Given the description of an element on the screen output the (x, y) to click on. 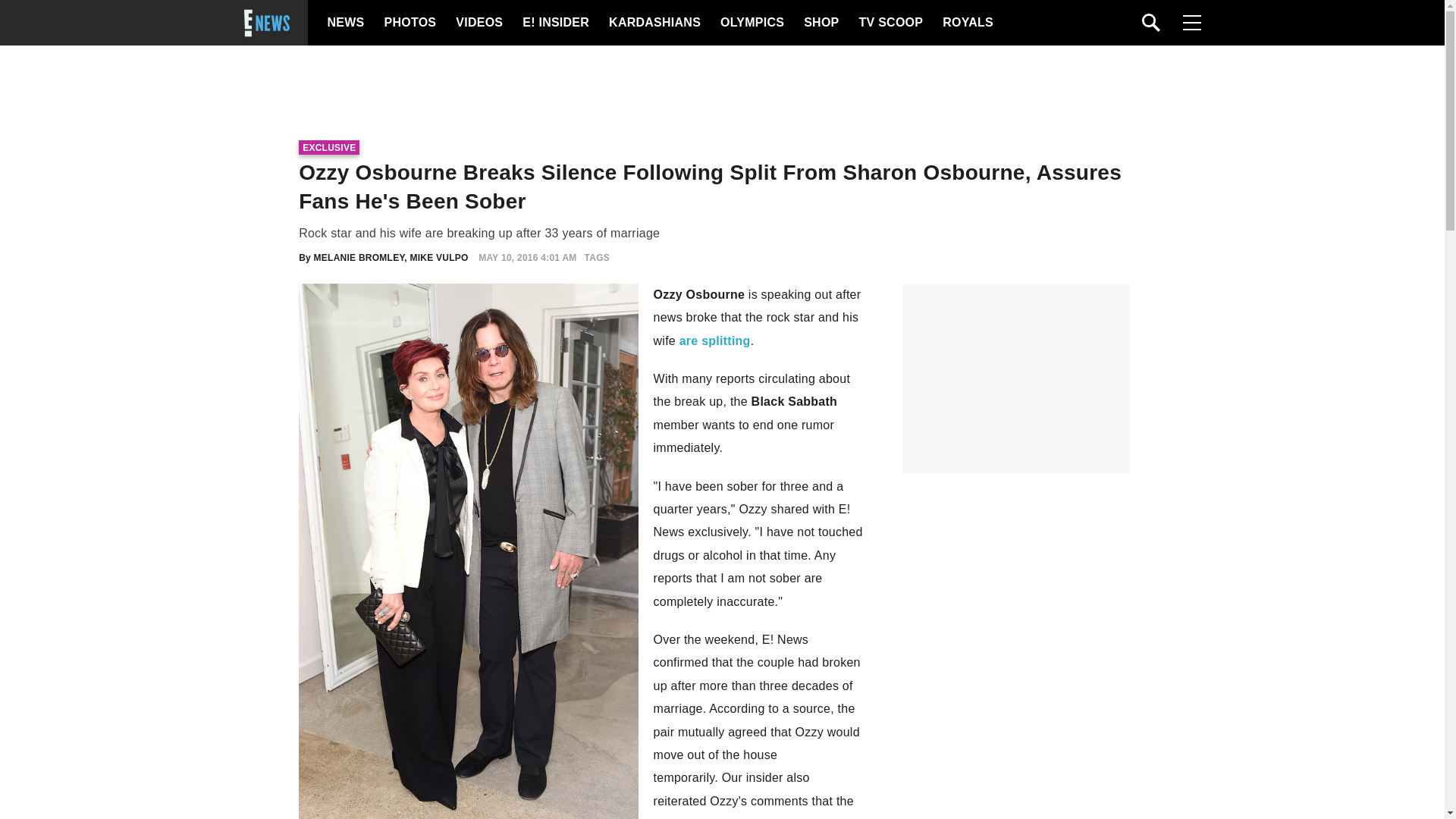
KARDASHIANS (653, 22)
VIDEOS (478, 22)
are splitting (715, 340)
MELANIE BROMLEY (359, 257)
TV SCOOP (890, 22)
NEWS (345, 22)
SHOP (820, 22)
PHOTOS (408, 22)
E! INSIDER (555, 22)
OLYMPICS (751, 22)
ROYALS (966, 22)
MIKE VULPO (439, 257)
